Given the description of an element on the screen output the (x, y) to click on. 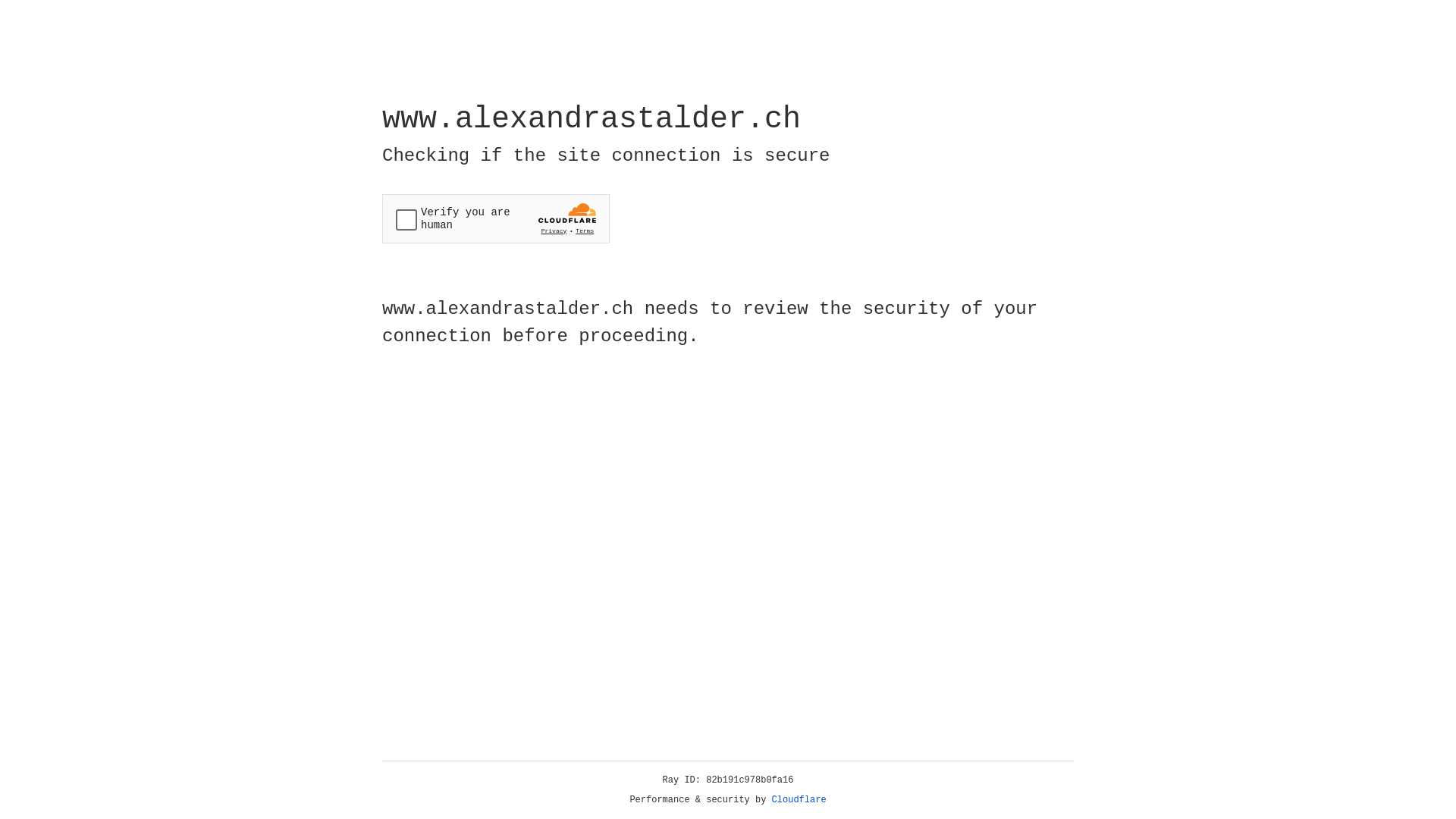
Cloudflare Element type: text (798, 799)
Widget containing a Cloudflare security challenge Element type: hover (495, 218)
